Given the description of an element on the screen output the (x, y) to click on. 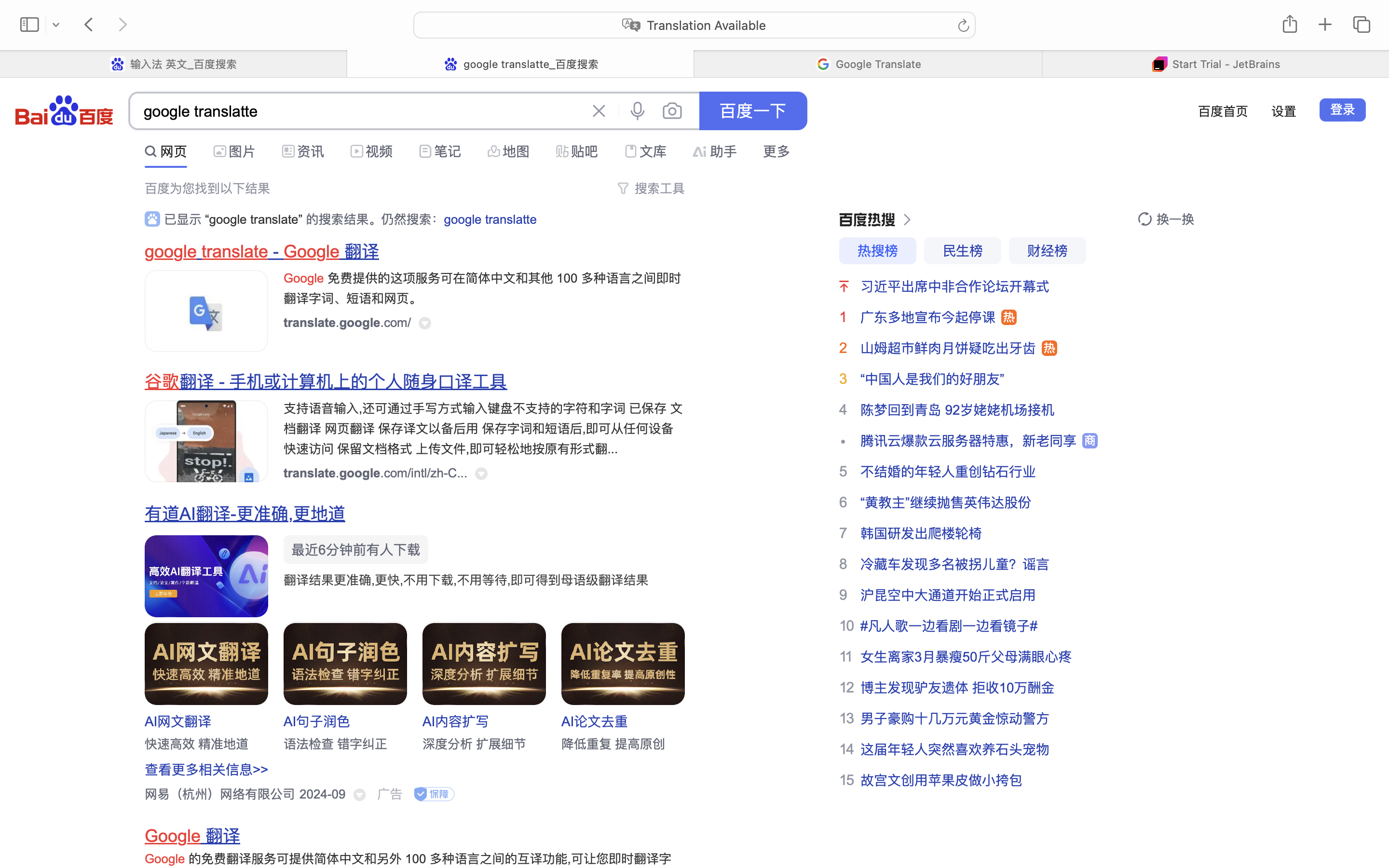
 Element type: AXStaticText (151, 151)
故宫文创用苹果皮做小挎包 Element type: AXStaticText (941, 779)
韩国研发出爬楼轮椅 Element type: AXStaticText (920, 533)
有道AI翻译-更准确,更地道 Element type: AXStaticText (245, 513)
财经榜 Element type: AXStaticText (1047, 250)
